Given the description of an element on the screen output the (x, y) to click on. 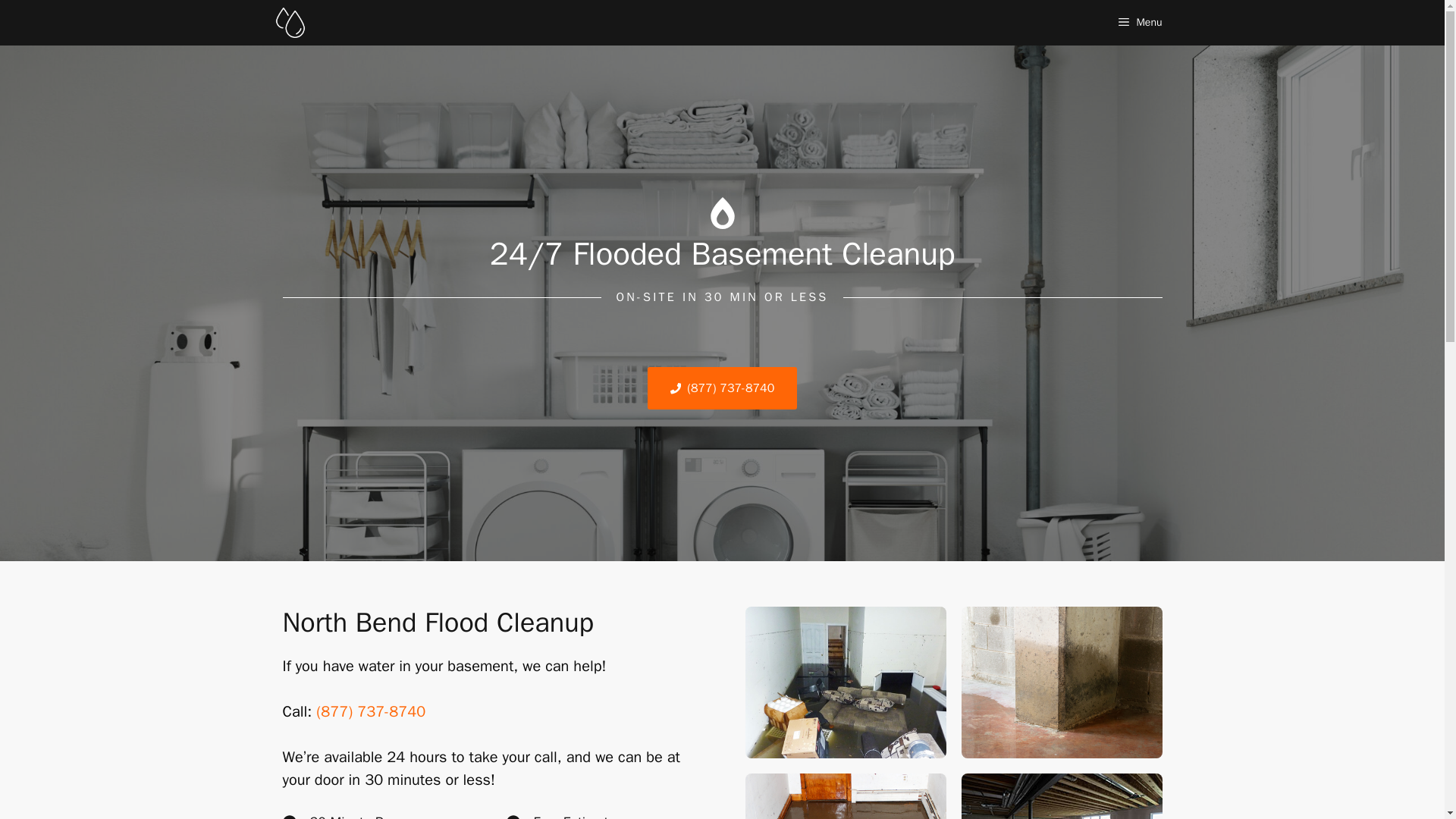
flooded-basement-2 (844, 682)
water-in-basement (1060, 796)
Menu (1139, 22)
Damage,To,A,Concrete,Column,From,Water,In,The,Basement (1060, 682)
